Given the description of an element on the screen output the (x, y) to click on. 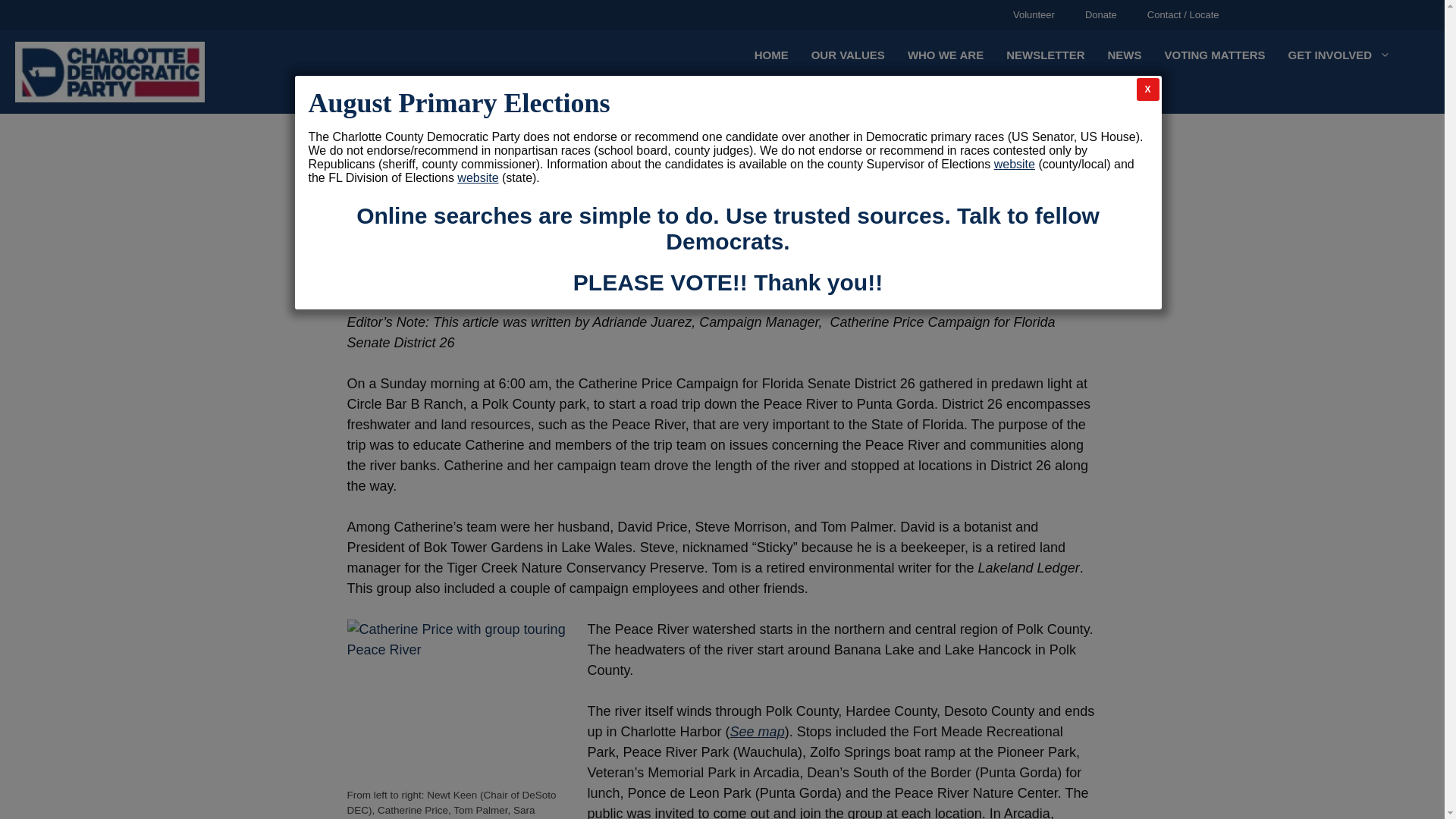
WHO WE ARE (945, 54)
Volunteer (1033, 15)
NEWSLETTER (1045, 54)
NEWS (1124, 54)
Campaigning (628, 271)
OUR VALUES (847, 54)
September 1, 2018 (412, 271)
GET INVOLVED (1339, 54)
HOME (770, 54)
Donate (1101, 15)
VOTING MATTERS (1214, 54)
Environment (713, 271)
See map (757, 731)
